Given the description of an element on the screen output the (x, y) to click on. 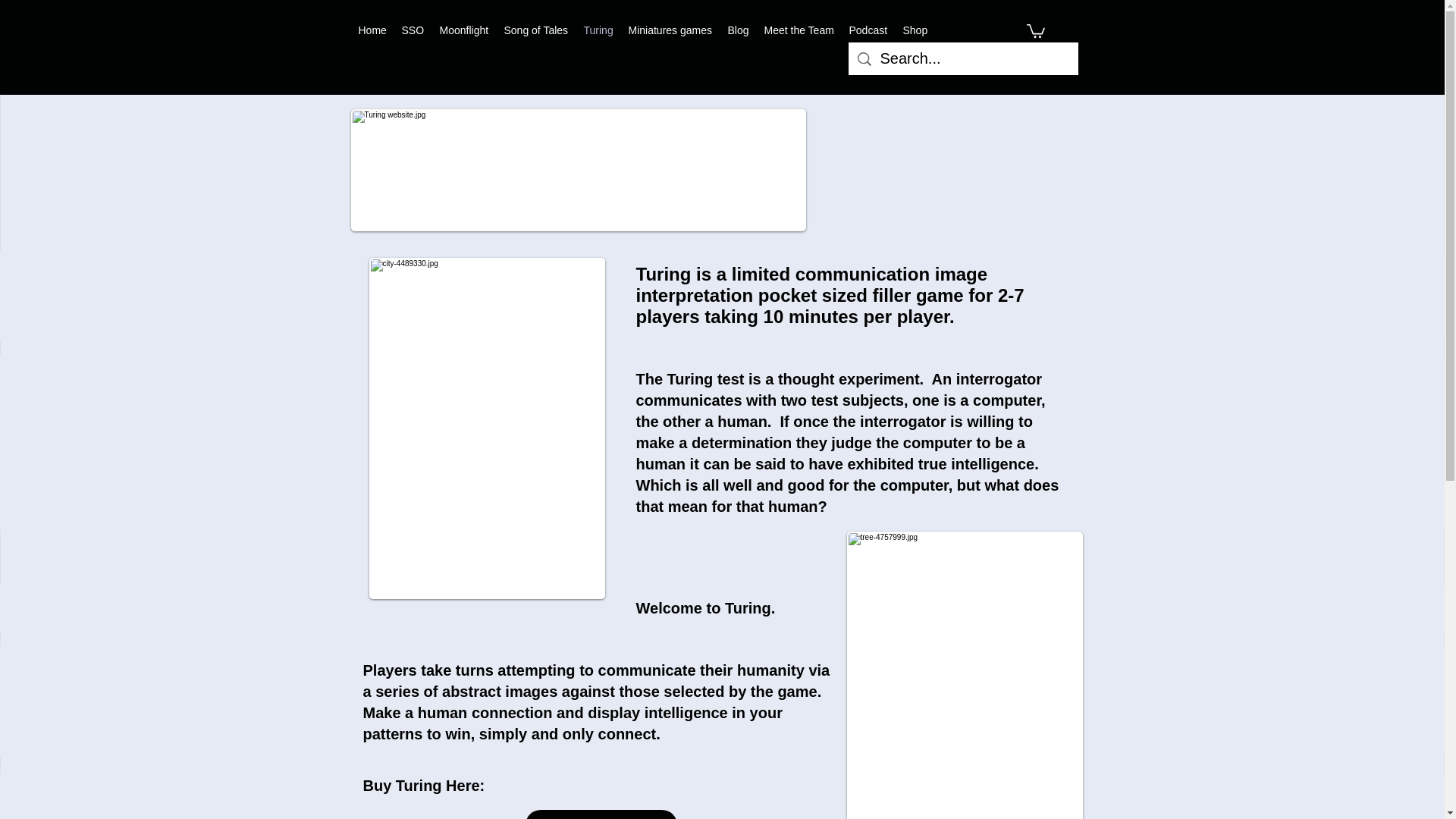
Meet the Team (799, 29)
Turing (598, 29)
Podcast (868, 29)
Shop (914, 29)
SSO (413, 29)
Moonflight (464, 29)
Miniatures games (669, 29)
Song of Tales (535, 29)
Home (371, 29)
Blog (738, 29)
